Given the description of an element on the screen output the (x, y) to click on. 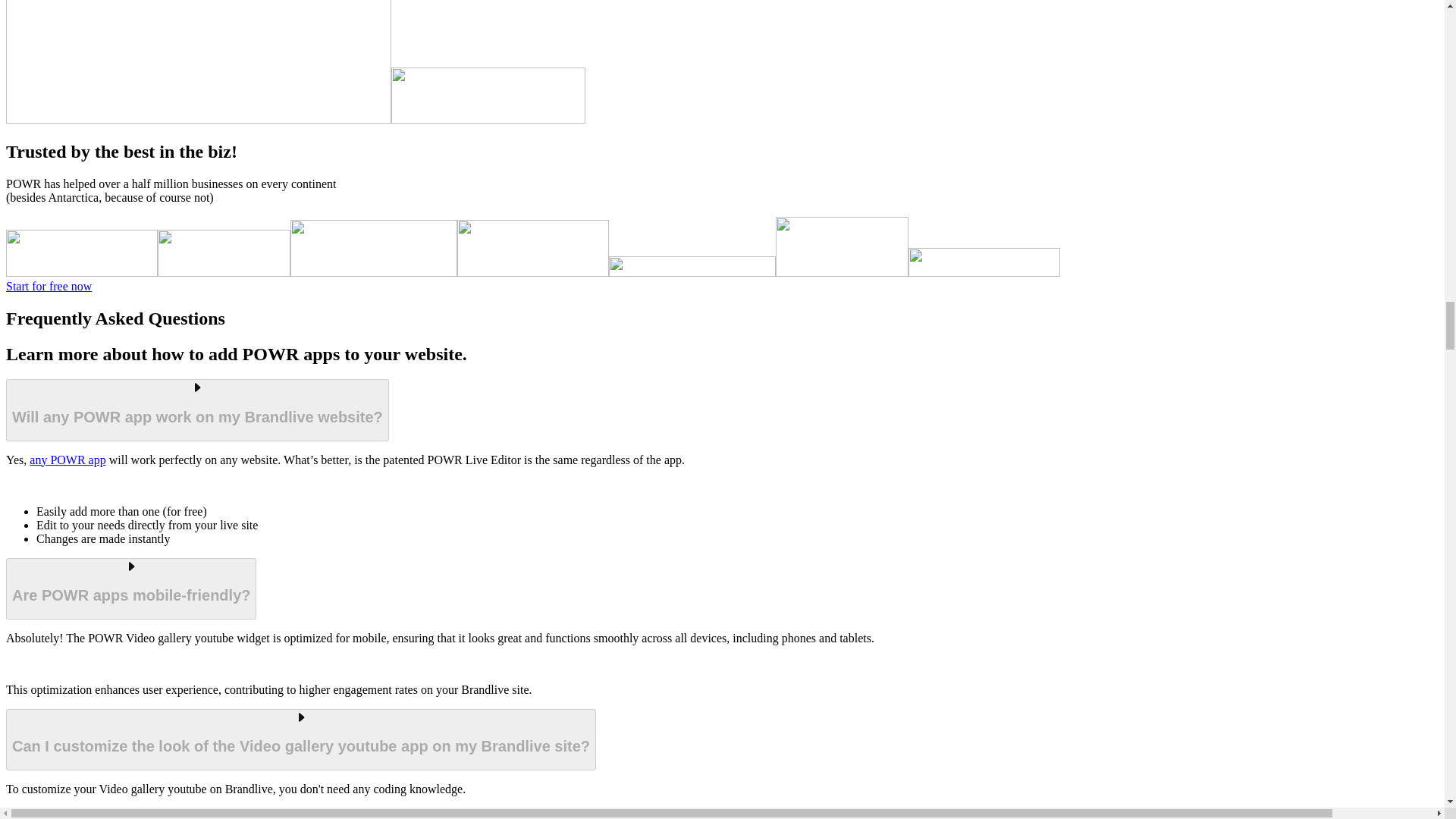
any POWR app (66, 459)
Start for free now (48, 286)
Are POWR apps mobile-friendly? (130, 588)
Will any POWR app work on my Brandlive website? (196, 409)
